Given the description of an element on the screen output the (x, y) to click on. 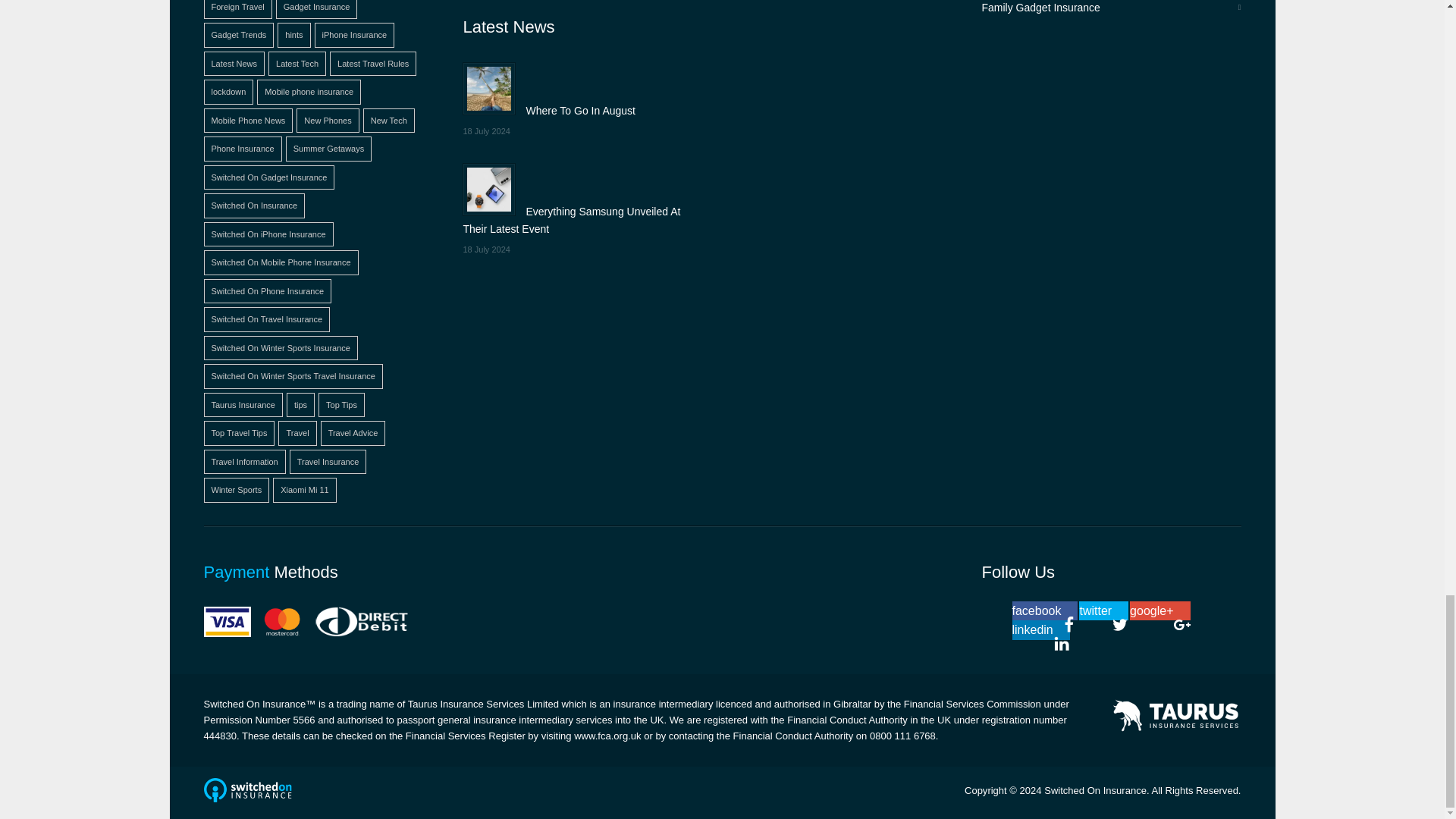
twitter (1103, 610)
facebook (1044, 610)
Visa (226, 621)
linkedin (1039, 629)
MasterCard (282, 621)
Direct Debit (361, 621)
